Given the description of an element on the screen output the (x, y) to click on. 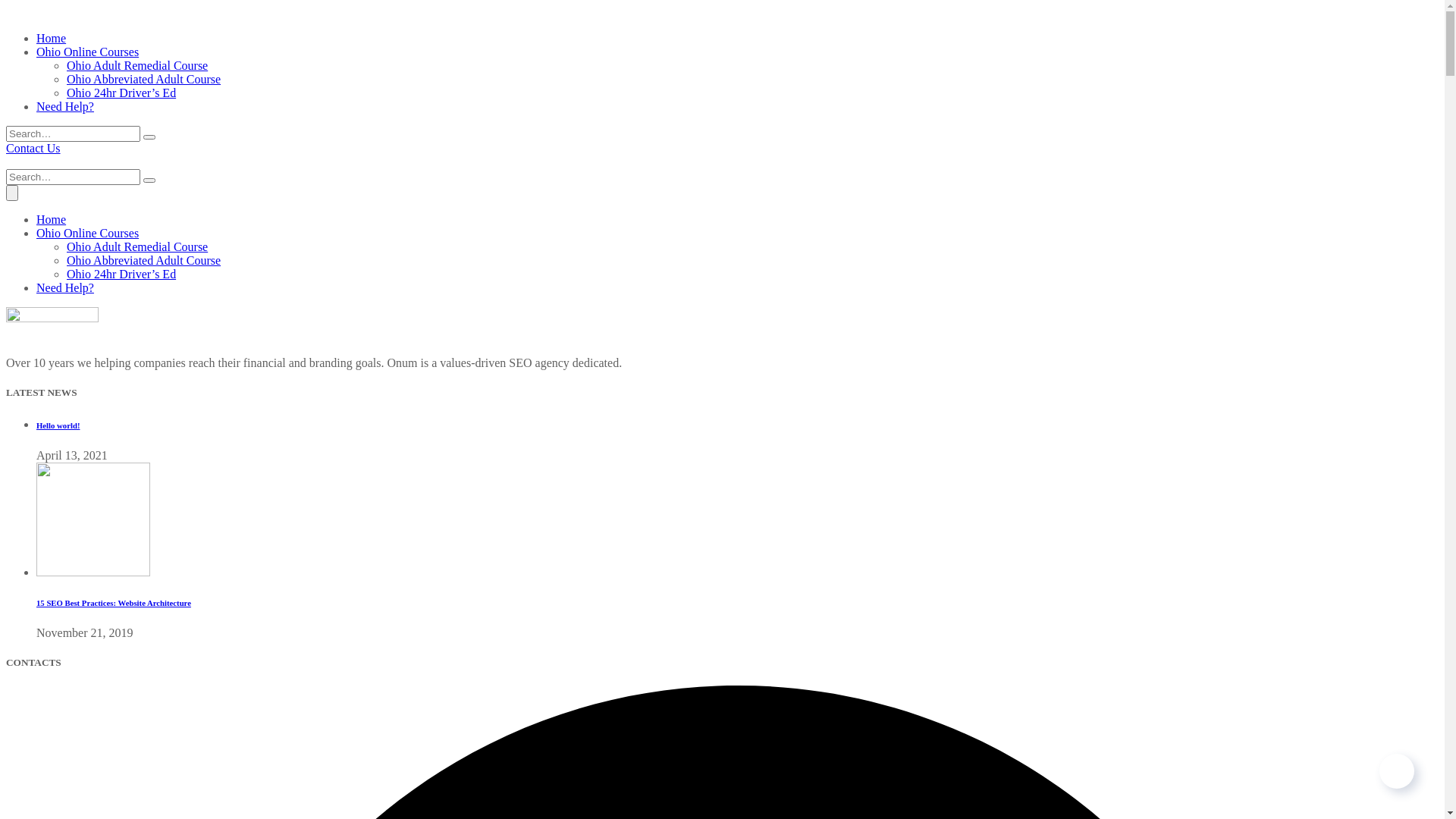
Need Help? Element type: text (65, 287)
Ohio Online Courses Element type: text (87, 232)
Need Help? Element type: text (65, 106)
Ohio Online Courses Element type: text (87, 51)
Contact Us Element type: text (33, 147)
Home Element type: text (50, 219)
Ohio Abbreviated Adult Course Element type: text (143, 78)
15 SEO Best Practices: Website Architecture Element type: text (113, 602)
Home Element type: text (50, 37)
Hello world! Element type: text (57, 424)
Ohio Abbreviated Adult Course Element type: text (143, 260)
Ohio Adult Remedial Course Element type: text (136, 65)
Ohio Adult Remedial Course Element type: text (136, 246)
